Given the description of an element on the screen output the (x, y) to click on. 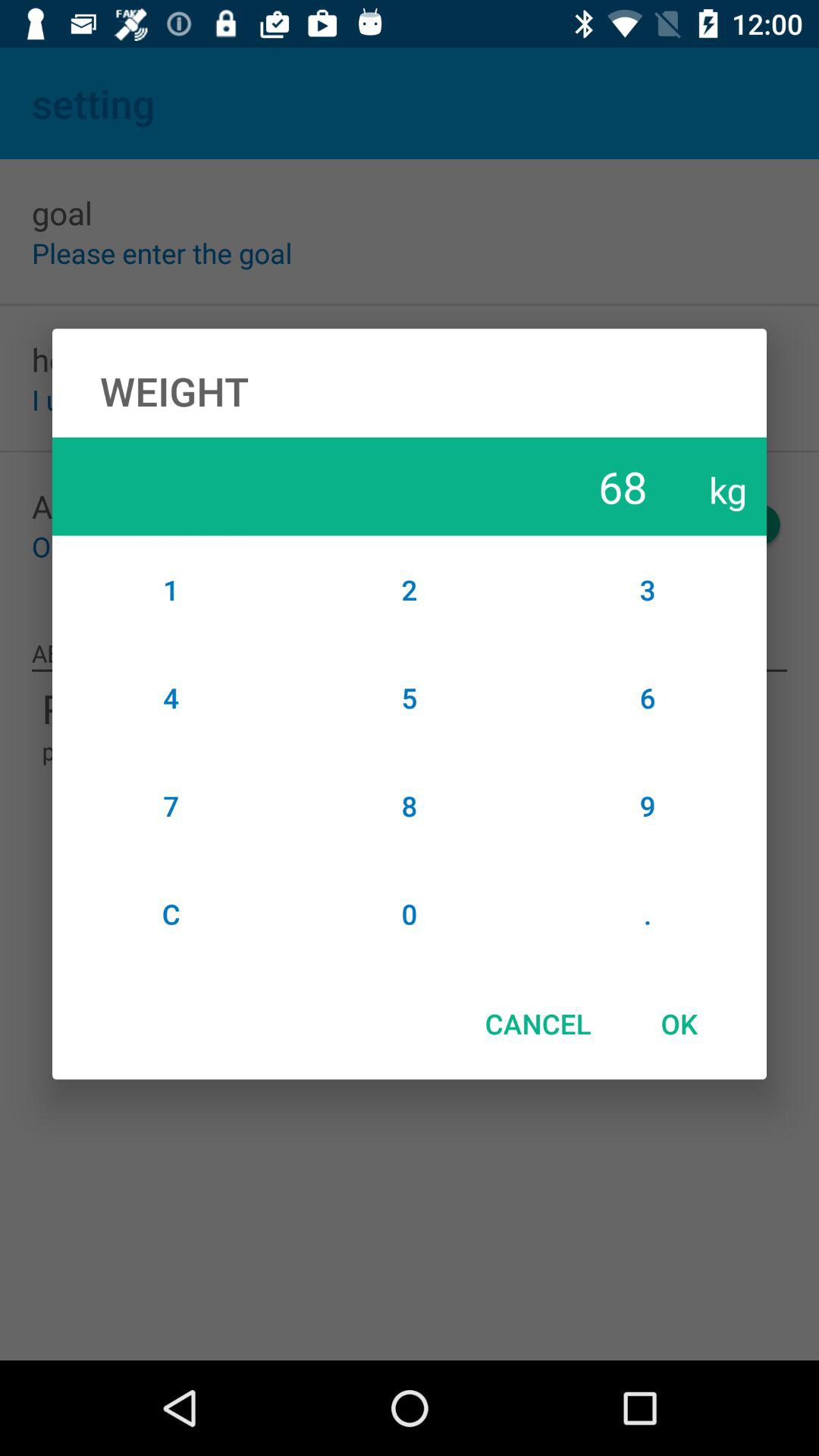
press icon to the right of cancel item (678, 1023)
